Given the description of an element on the screen output the (x, y) to click on. 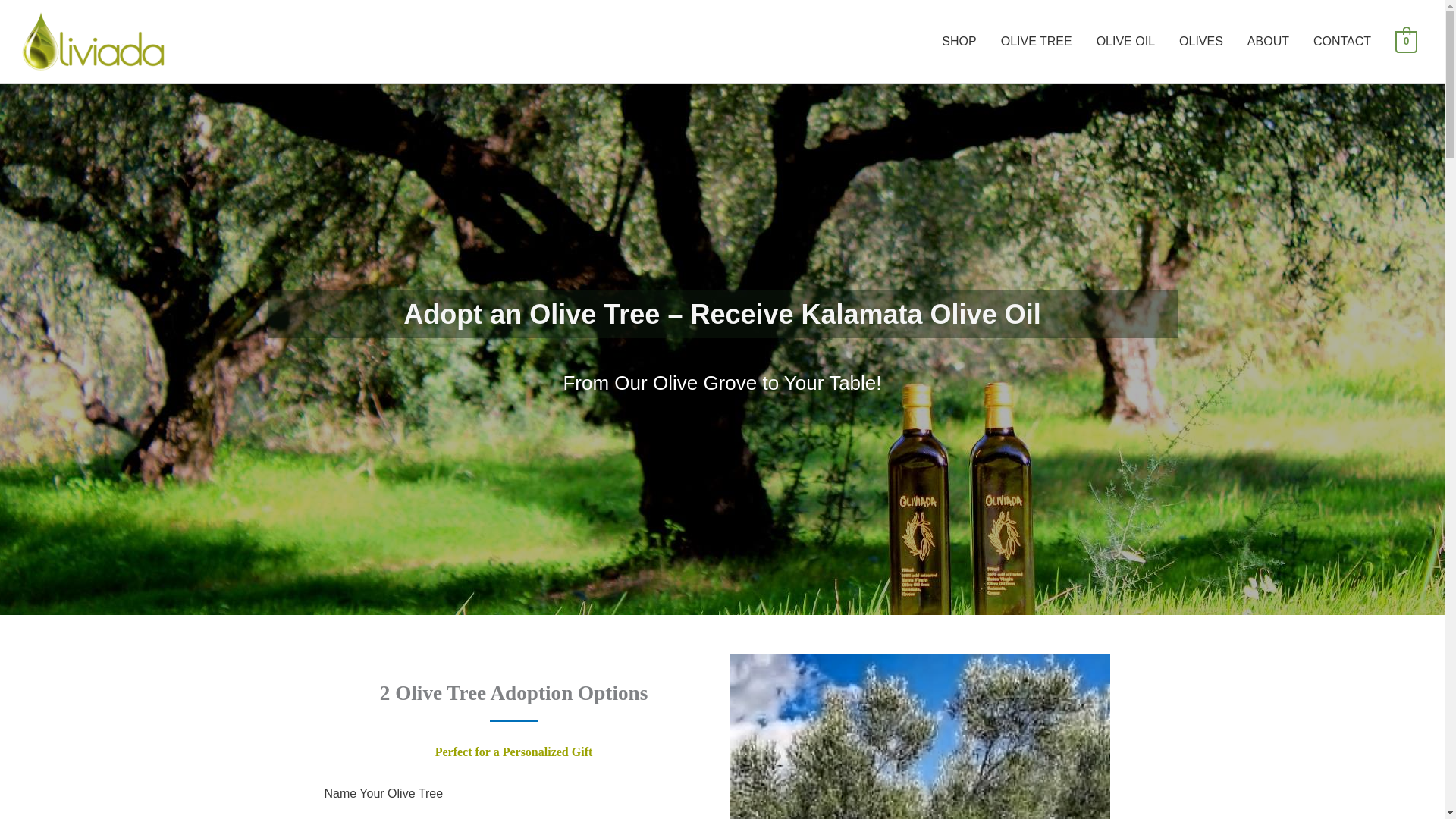
ABOUT (1267, 41)
SHOP (959, 41)
OLIVES (1200, 41)
0 (1405, 41)
OLIVE TREE (1036, 41)
CONTACT (1342, 41)
OLIVE OIL (1125, 41)
